Given the description of an element on the screen output the (x, y) to click on. 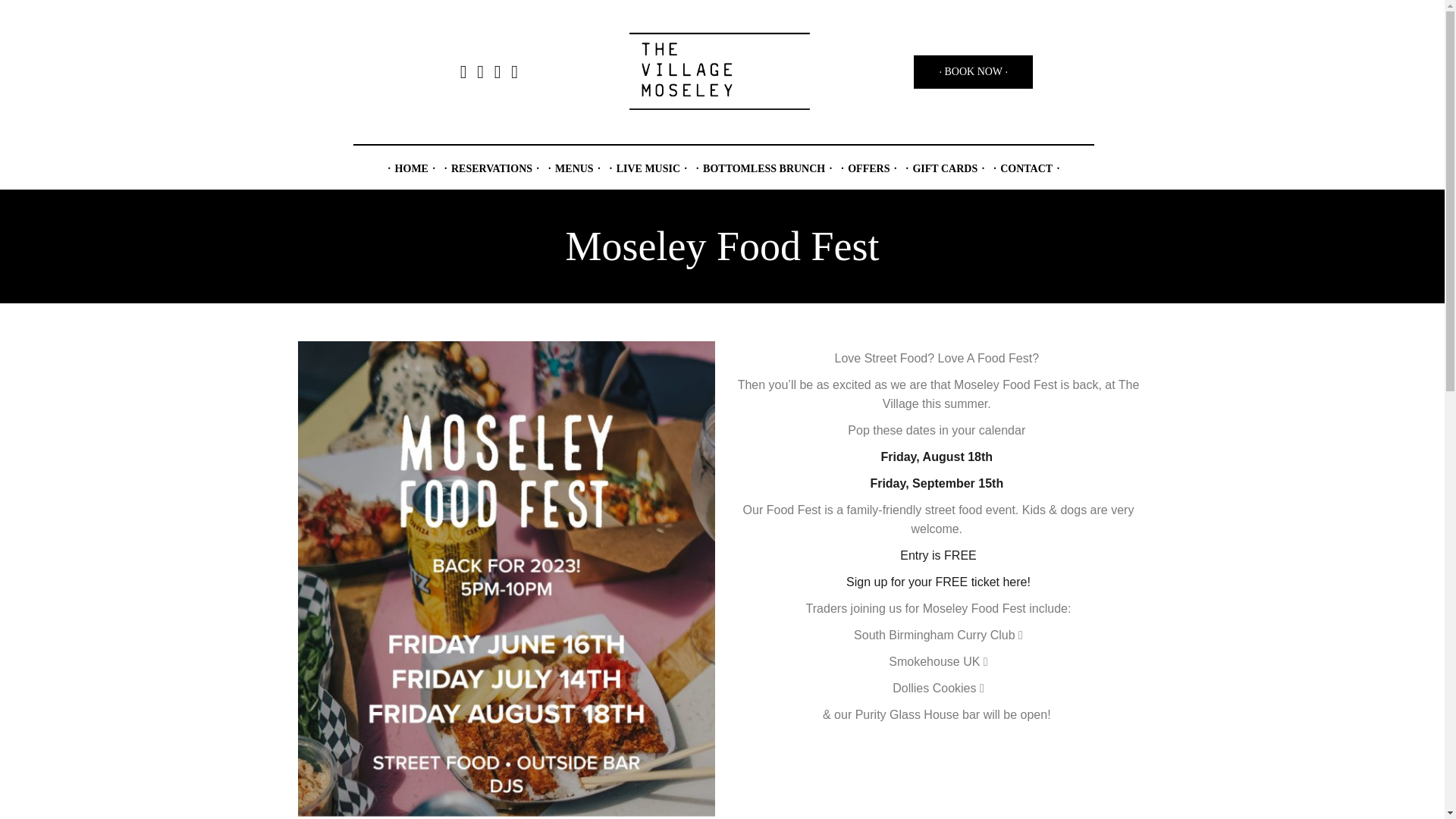
OFFERS (868, 167)
BOTTOMLESS BRUNCH (763, 167)
MENUS (574, 167)
LIVE MUSIC (648, 167)
GIFT CARDS (944, 167)
BOOK NOW (973, 71)
CONTACT (1026, 167)
RESERVATIONS (491, 167)
HOME (411, 167)
